Given the description of an element on the screen output the (x, y) to click on. 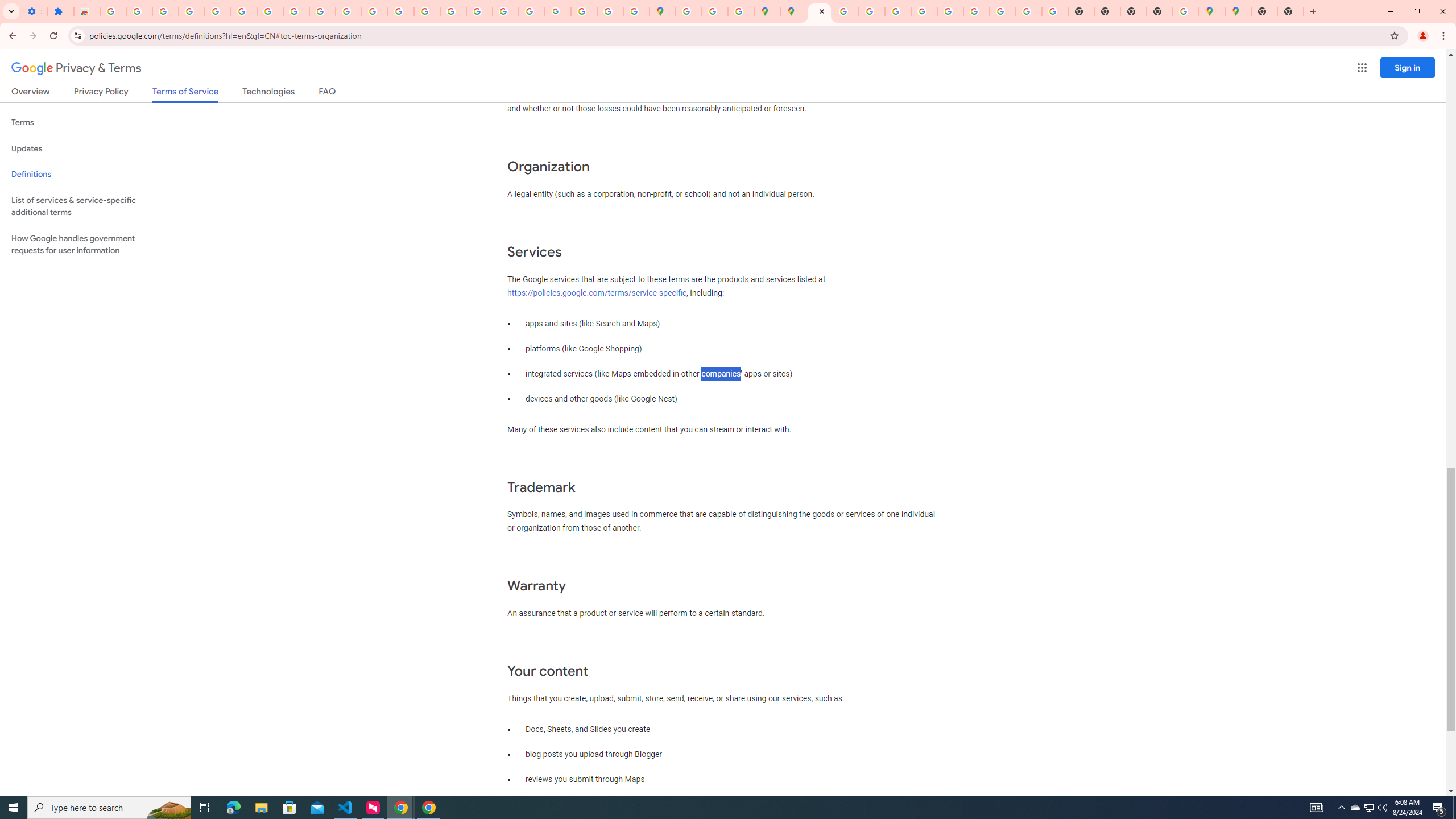
New Tab (1264, 11)
Privacy Help Center - Policies Help (845, 11)
Overview (30, 93)
YouTube (348, 11)
Google Account Help (243, 11)
New Tab (1159, 11)
How Google handles government requests for user information (86, 244)
Create your Google Account (715, 11)
